Given the description of an element on the screen output the (x, y) to click on. 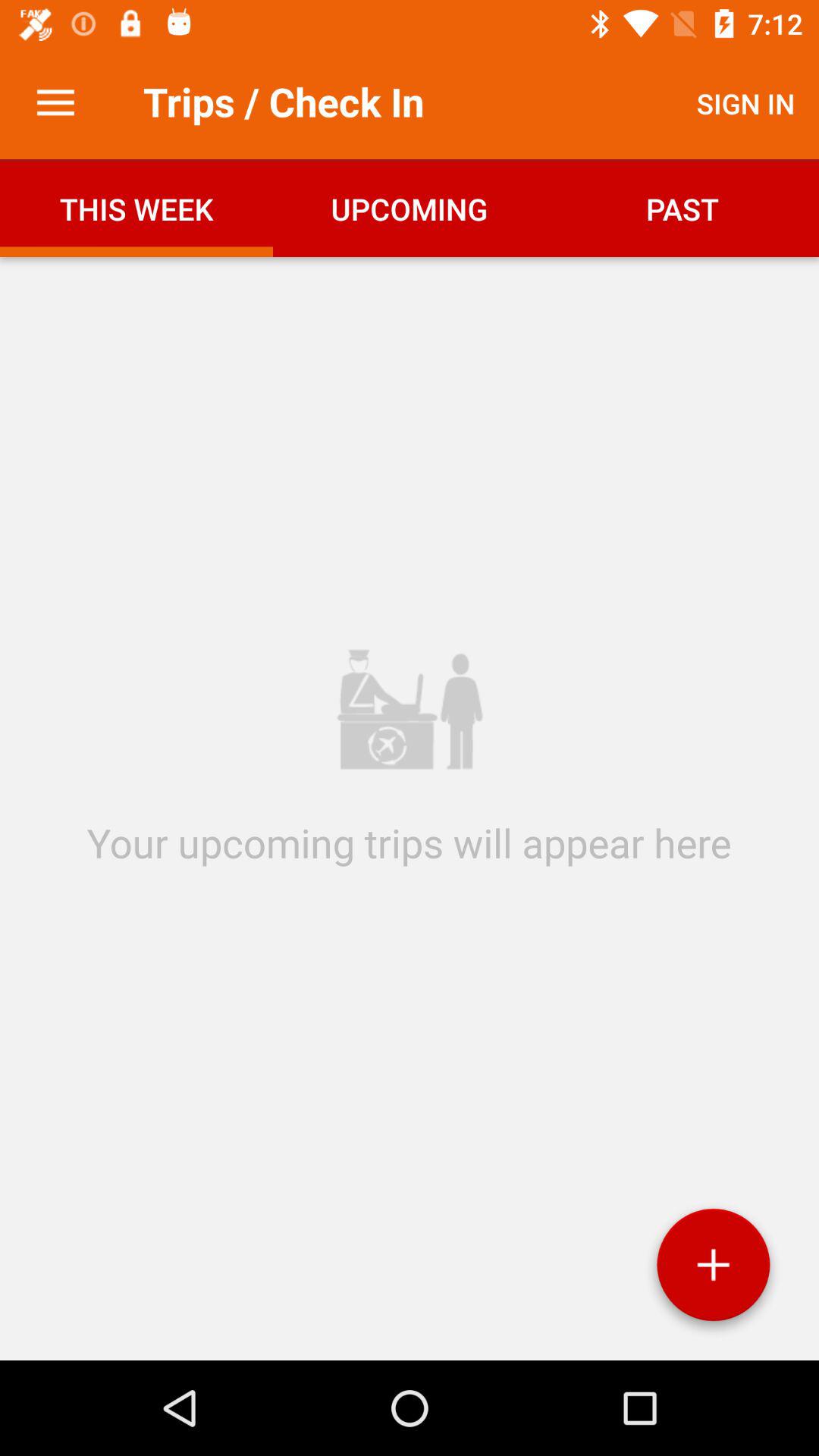
toggle add option (713, 1270)
